Given the description of an element on the screen output the (x, y) to click on. 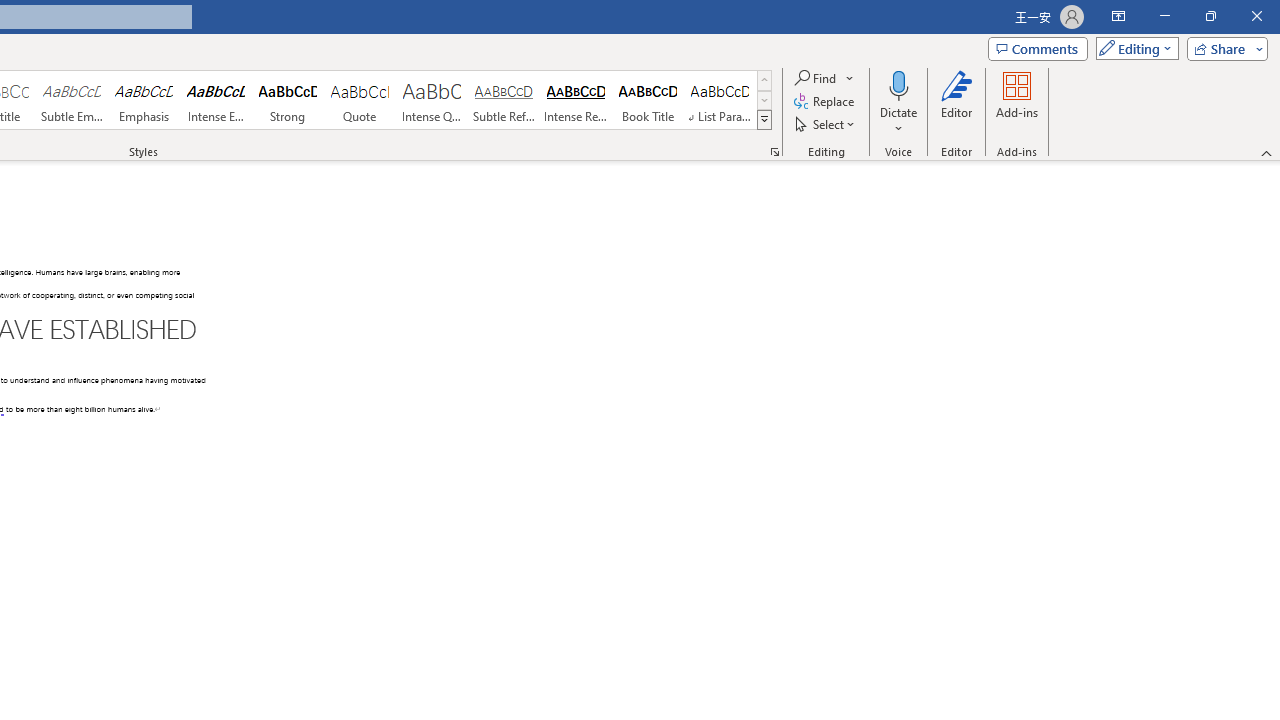
Intense Reference (575, 100)
Styles... (774, 151)
Emphasis (143, 100)
Intense Quote (431, 100)
Book Title (647, 100)
